Given the description of an element on the screen output the (x, y) to click on. 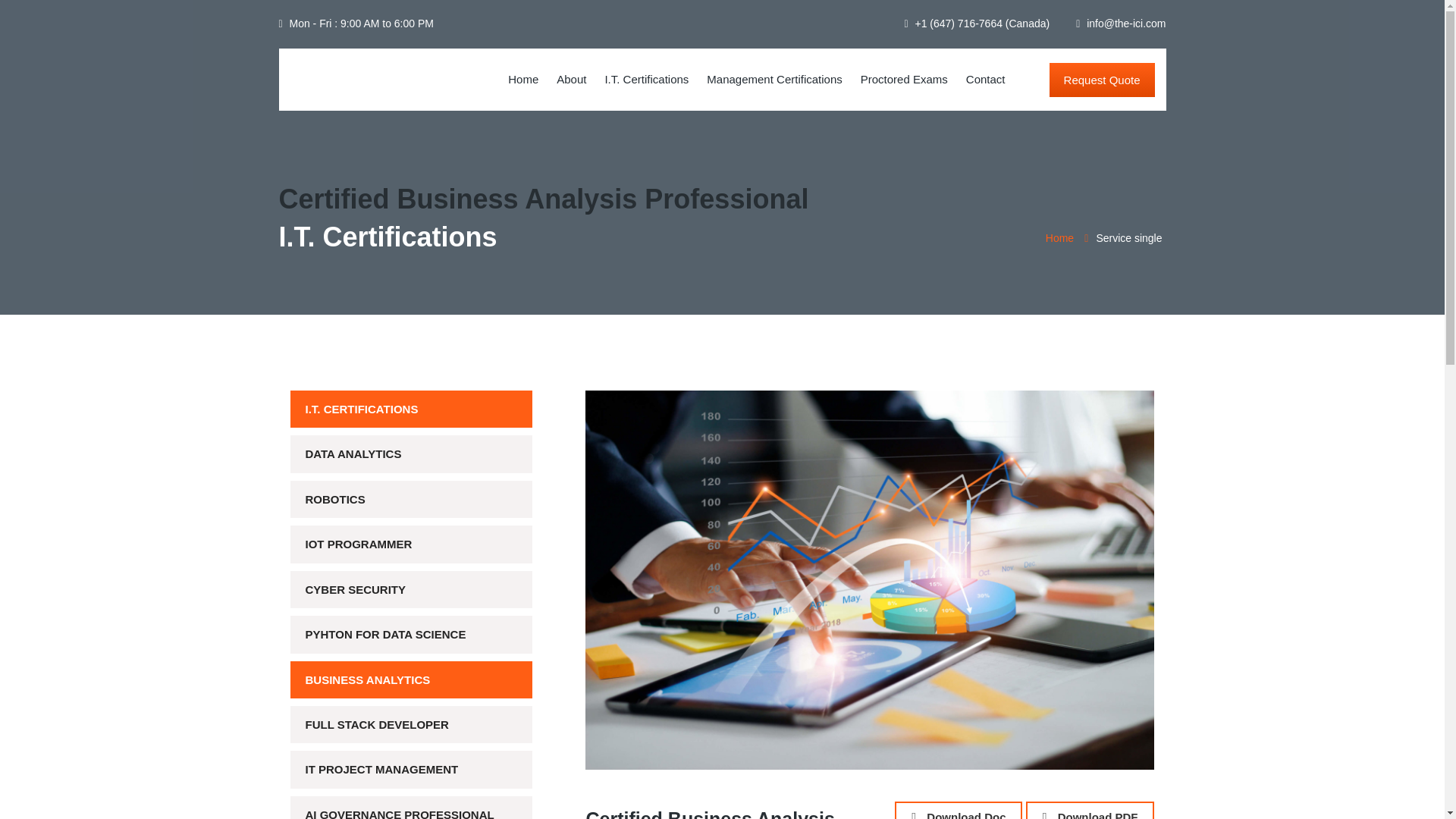
Proctored Exams (903, 79)
Management Certifications (773, 79)
Request Quote (1101, 80)
Contact (985, 79)
I.T. Certifications (646, 79)
